Given the description of an element on the screen output the (x, y) to click on. 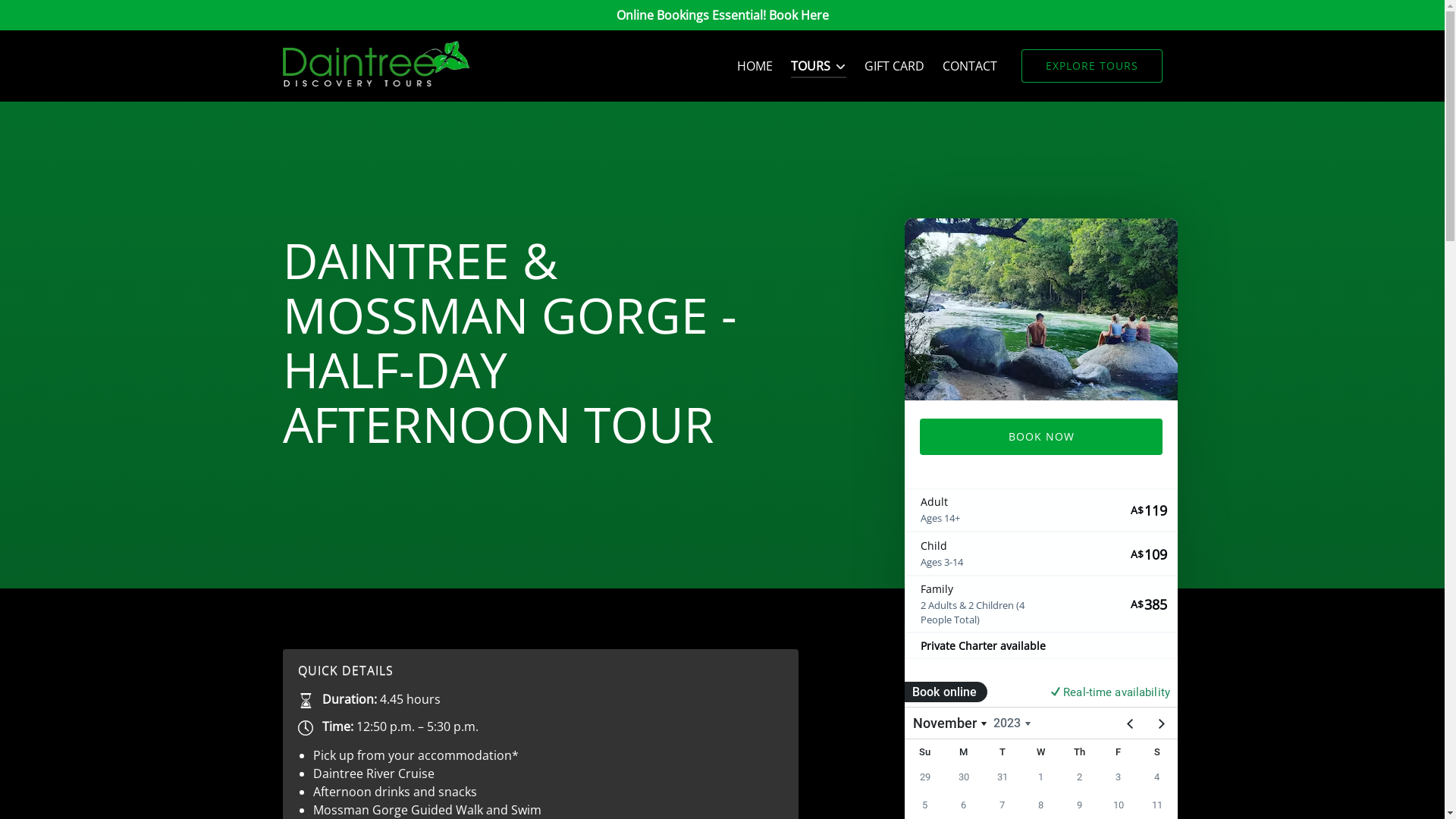
HOME Element type: text (754, 65)
BOOK NOW Element type: text (1040, 436)
Skip to primary navigation Element type: text (82, 16)
Skip to footer Element type: text (45, 16)
EXPLORE TOURS Element type: text (1090, 65)
Skip to content Element type: text (50, 16)
Online Bookings Essential! Book Here Element type: text (722, 15)
GIFT CARD Element type: text (894, 65)
CONTACT Element type: text (968, 65)
TOURS Element type: text (818, 65)
